Given the description of an element on the screen output the (x, y) to click on. 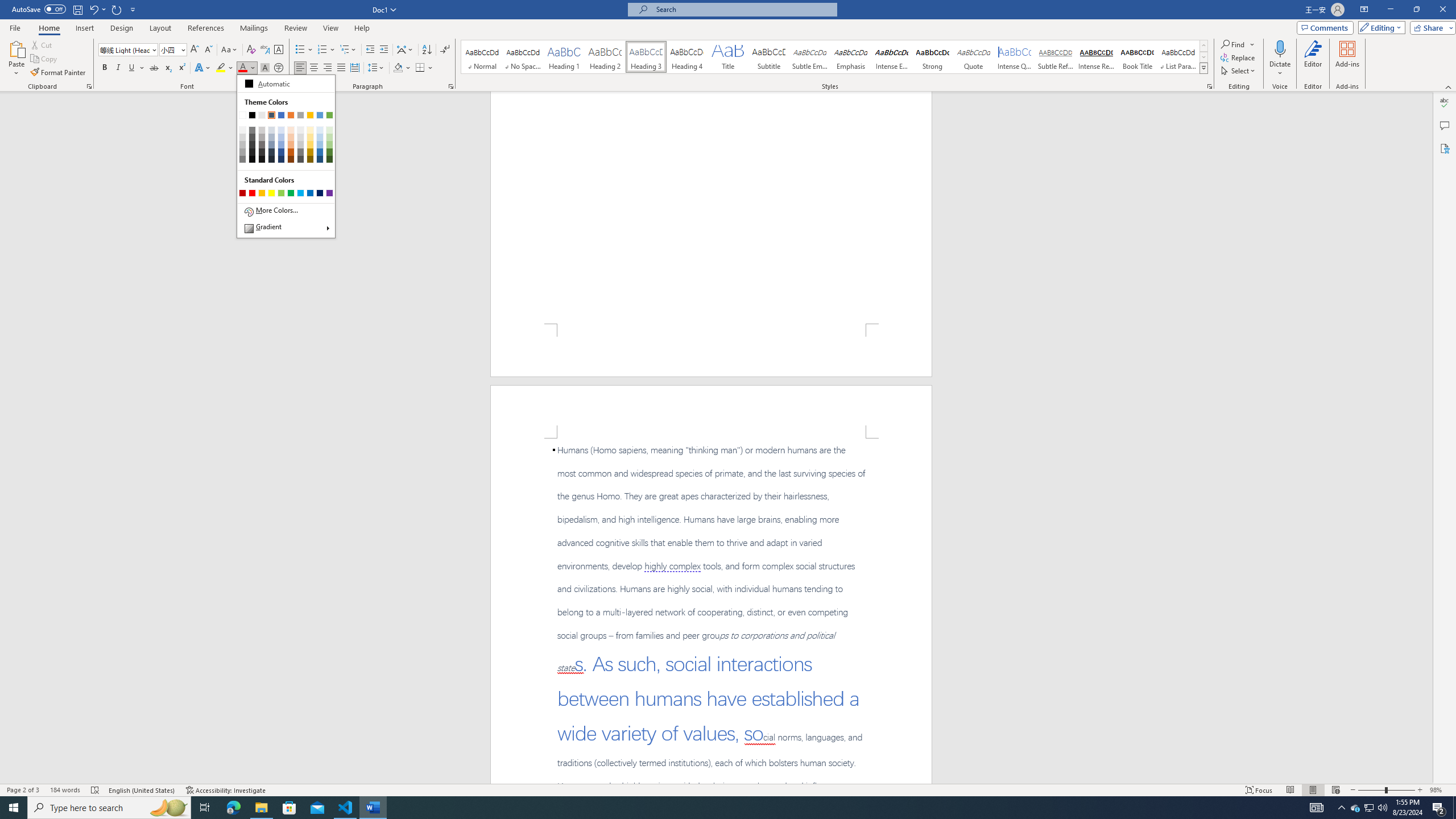
Font (124, 49)
Numbering (326, 49)
Focus  (1258, 790)
Type here to search (108, 807)
Search highlights icon opens search home window (167, 807)
Web Layout (1335, 790)
Align Right (327, 67)
Subscript (167, 67)
Font Size (169, 49)
Character Border (278, 49)
Find (1232, 44)
Home (48, 28)
